Given the description of an element on the screen output the (x, y) to click on. 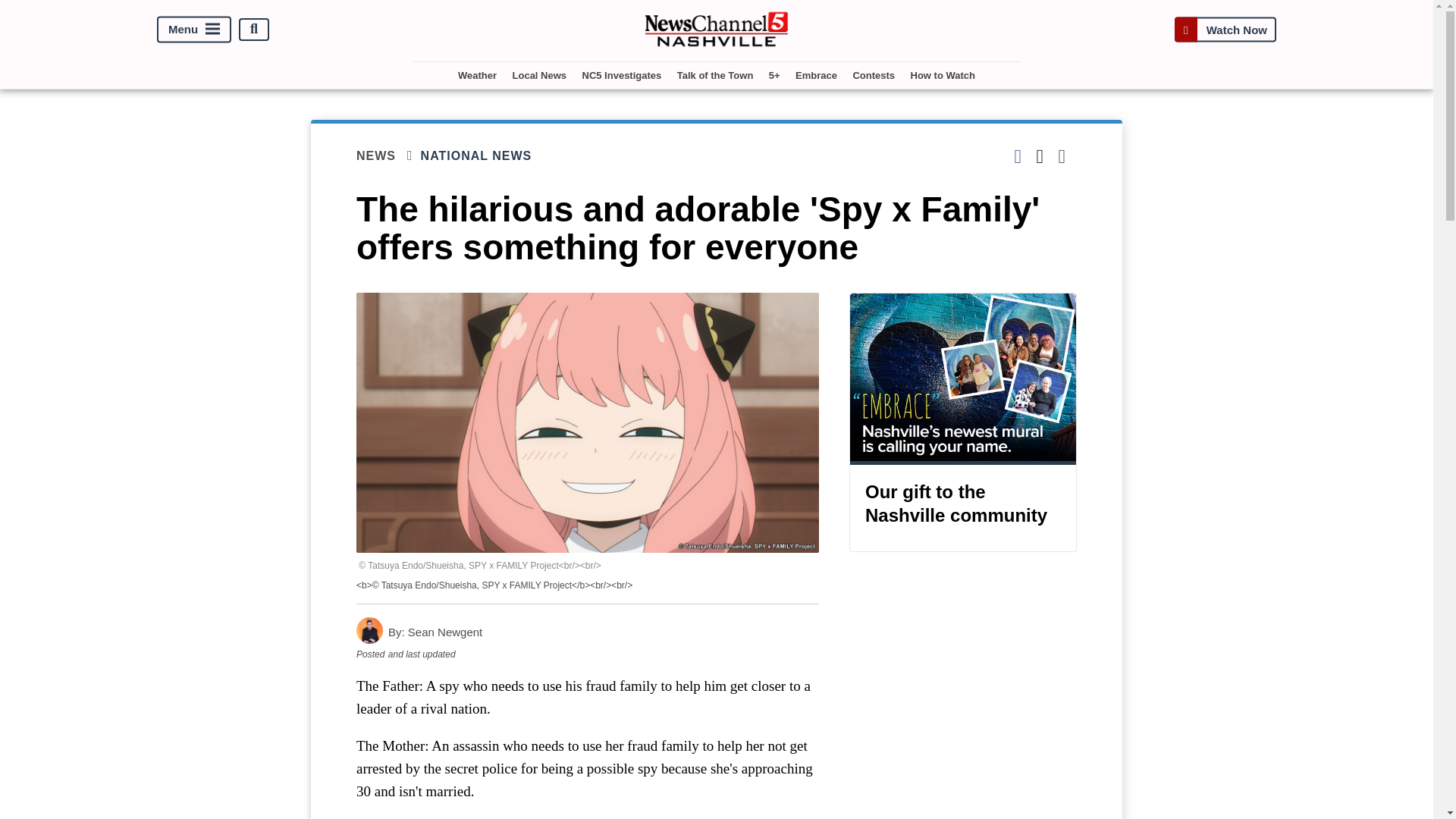
Watch Now (1224, 29)
Menu (194, 28)
